Given the description of an element on the screen output the (x, y) to click on. 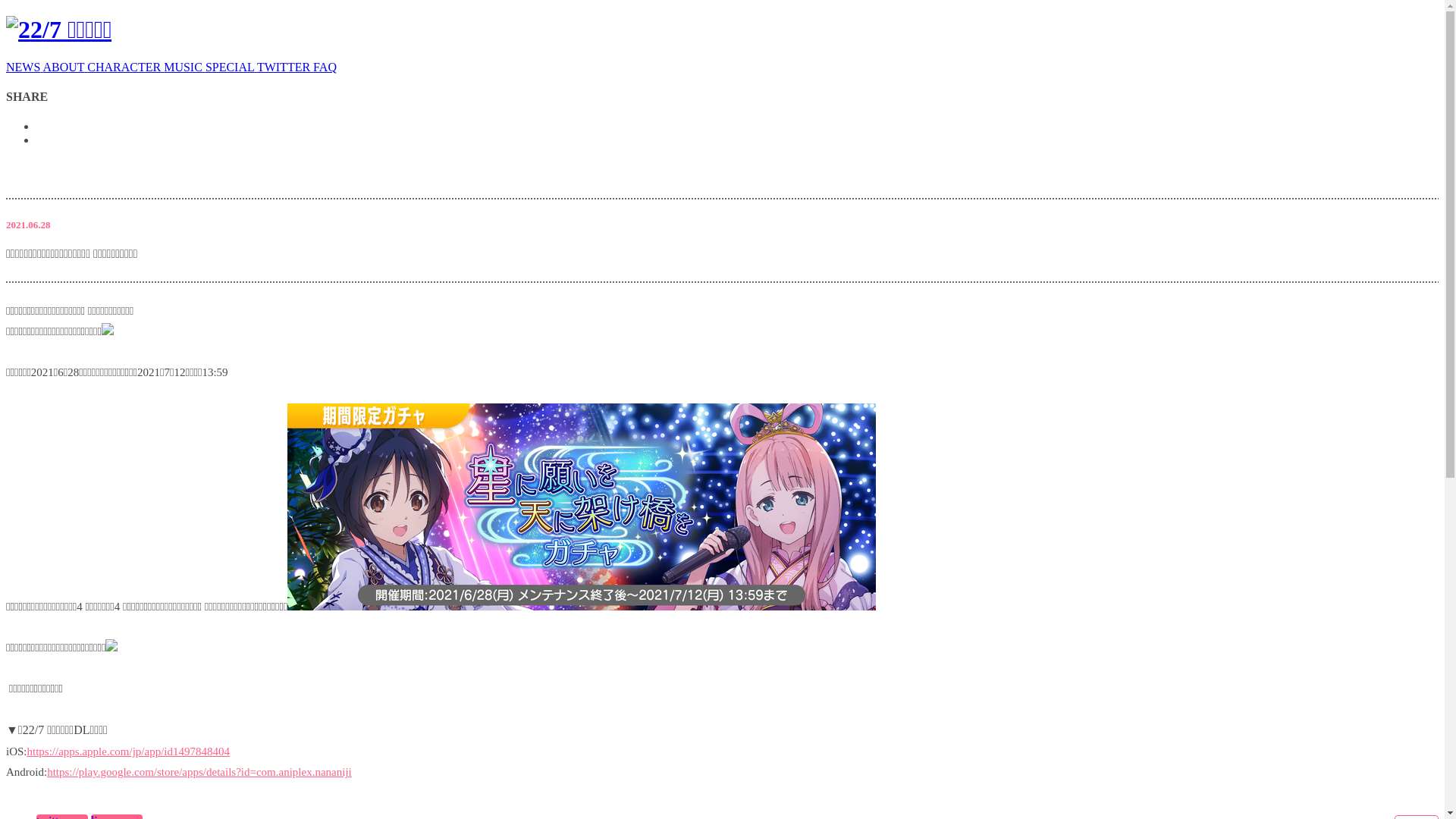
ABOUT Element type: text (64, 66)
https://apps.apple.com/jp/app/id1497848404 Element type: text (128, 751)
MUSIC Element type: text (184, 66)
FAQ Element type: text (324, 66)
NEWS Element type: text (24, 66)
SPECIAL Element type: text (231, 66)
TWITTER Element type: text (285, 66)
CHARACTER Element type: text (125, 66)
